Given the description of an element on the screen output the (x, y) to click on. 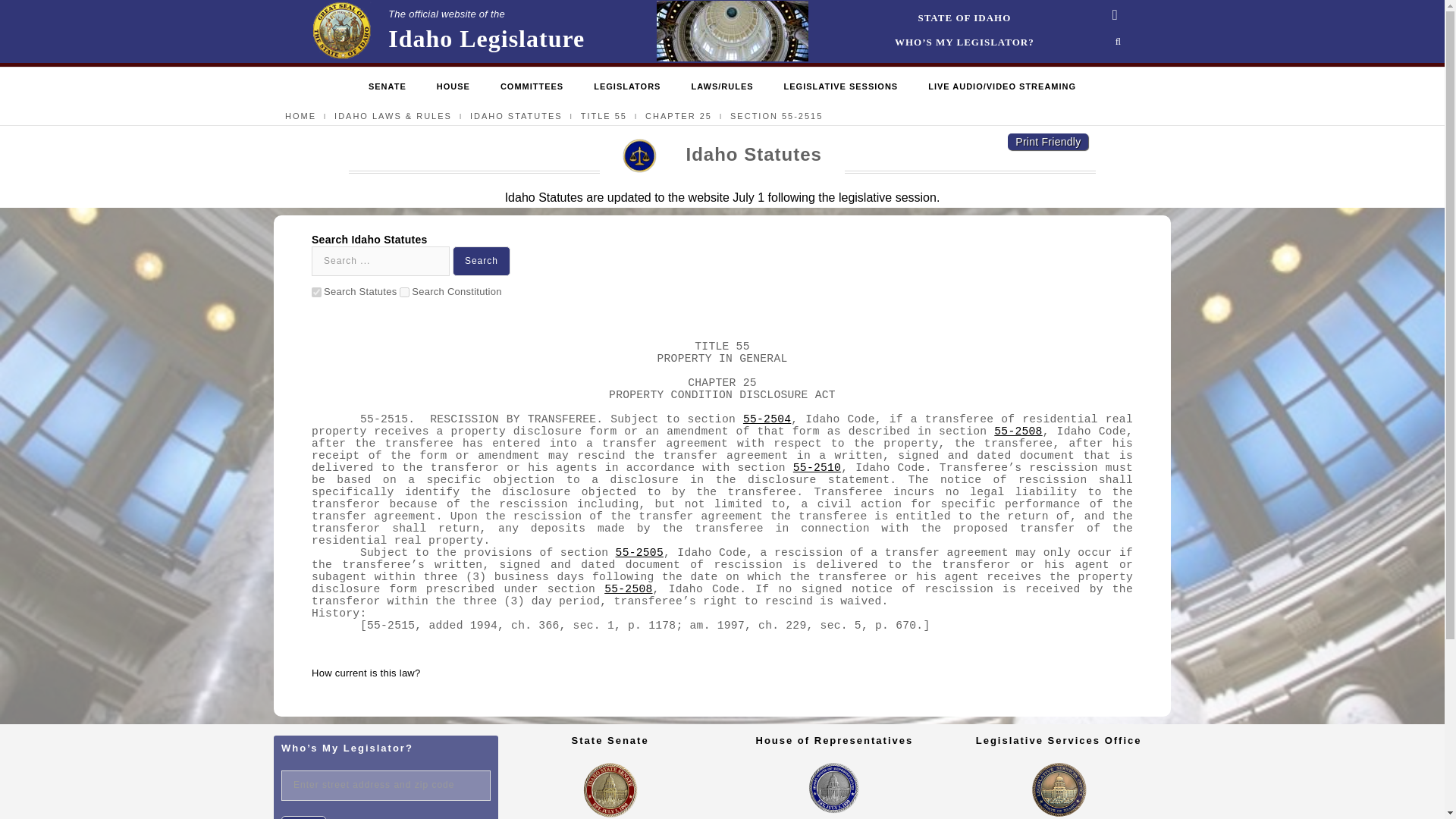
COMMITTEES (531, 87)
HOUSE (453, 87)
Browse to: Chapter 25 (678, 115)
LEGISLATORS (627, 87)
Search (481, 261)
STATE OF IDAHO (964, 18)
idaho statutes (446, 30)
SENATE (316, 292)
Find (387, 87)
Browse to: Title 55 (303, 817)
Browse to: Idaho Statutes (603, 115)
idaho constitution (516, 115)
Browse to: Home (403, 292)
